Given the description of an element on the screen output the (x, y) to click on. 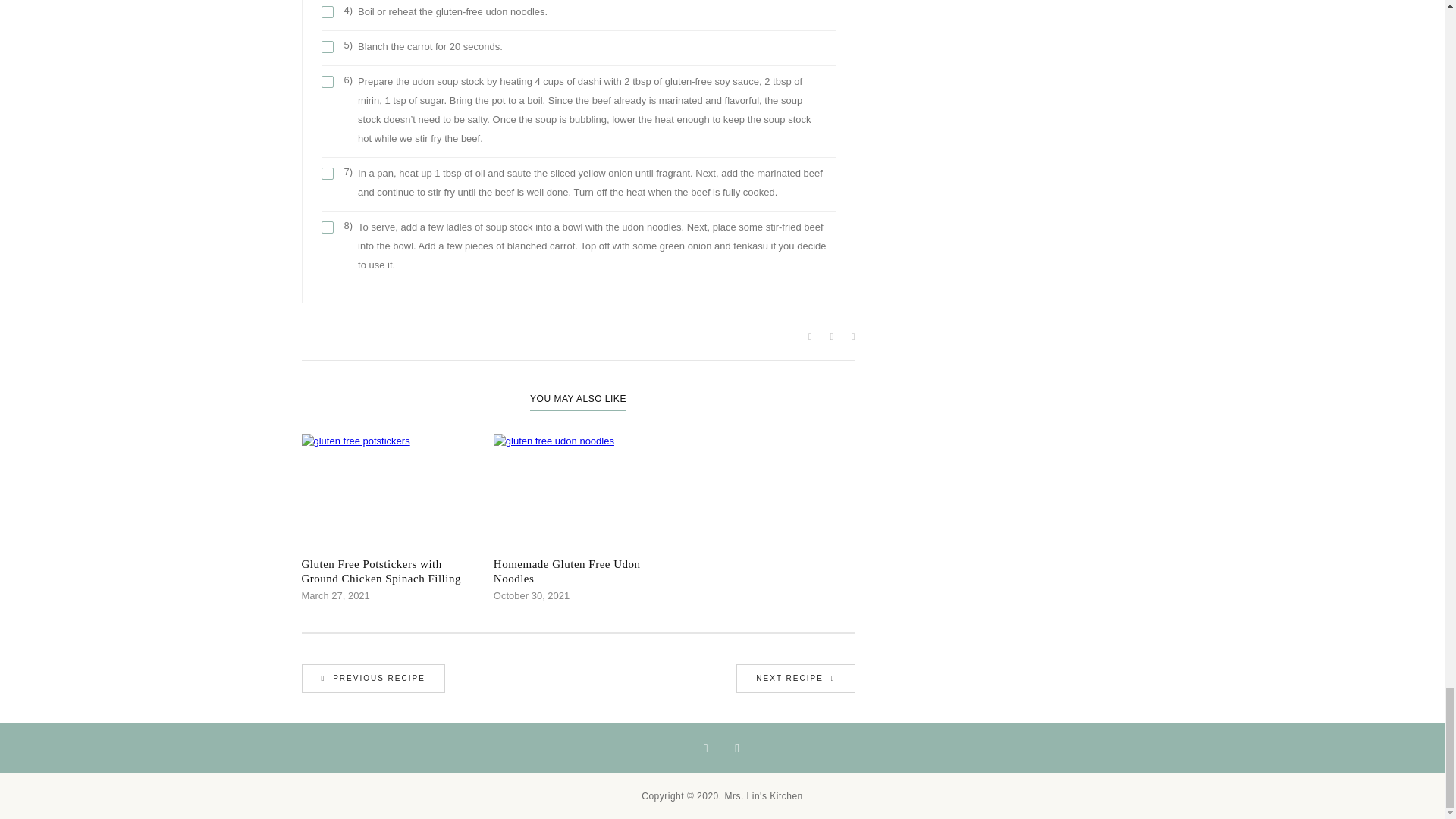
Gluten Free Potstickers with Ground Chicken Spinach Filling (385, 571)
NEXT RECIPE (795, 678)
PREVIOUS RECIPE (373, 678)
Homemade Gluten Free Udon Noodles (577, 571)
